Given the description of an element on the screen output the (x, y) to click on. 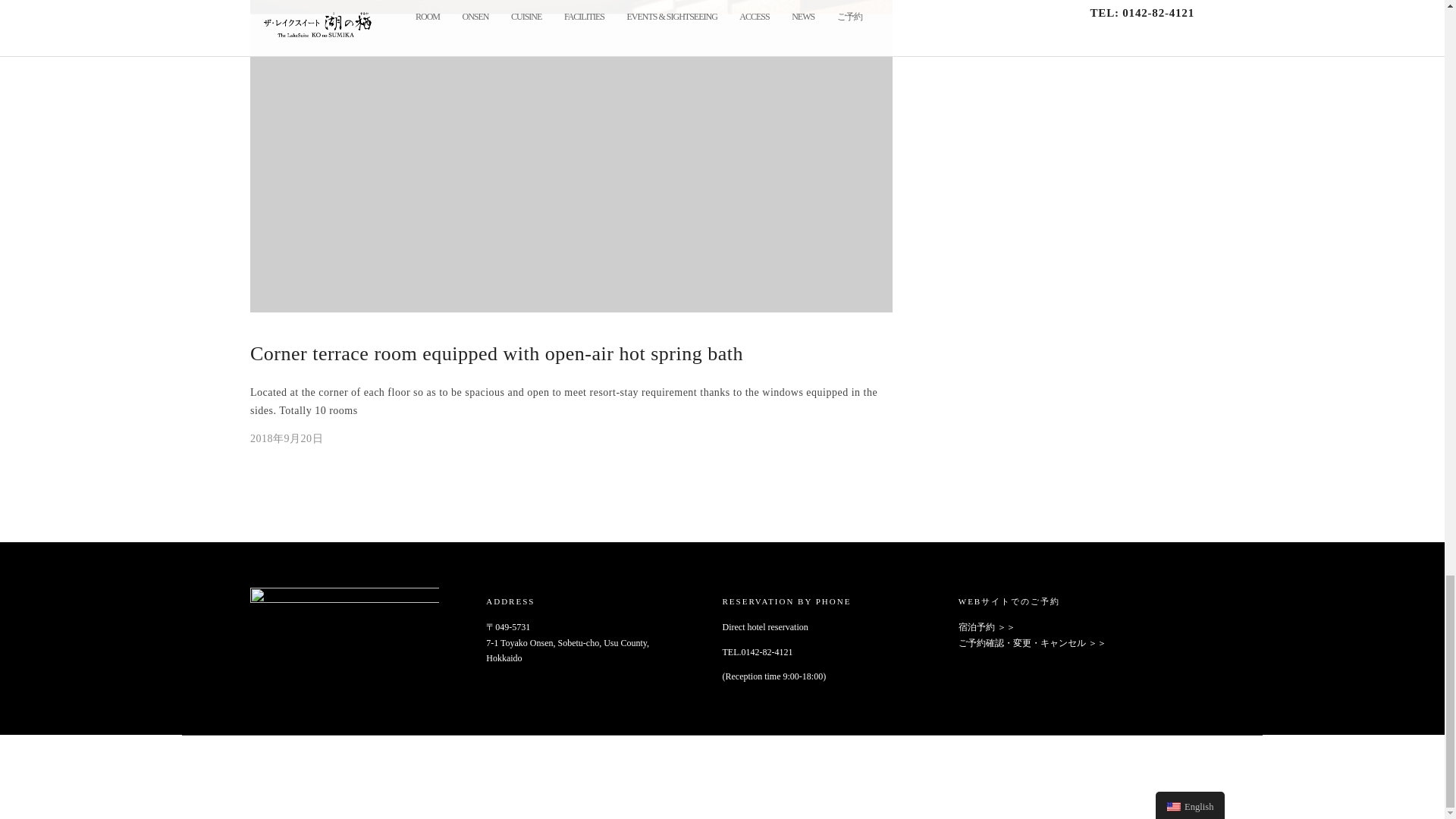
Corner terrace room equipped with open-air hot spring bath (496, 353)
Corner terrace room equipped with open-air hot spring bath (286, 438)
